Given the description of an element on the screen output the (x, y) to click on. 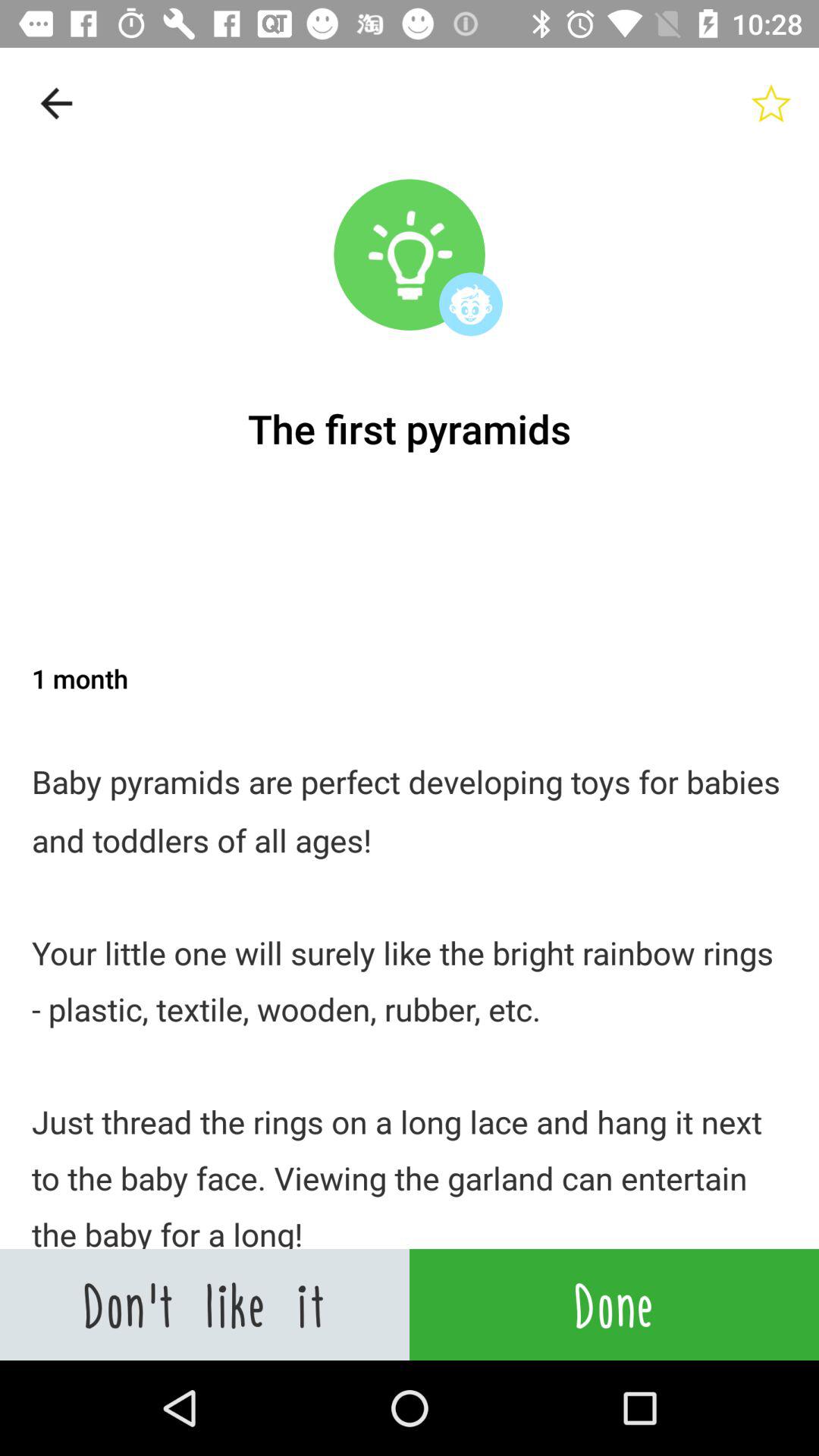
add to favorites (771, 103)
